Given the description of an element on the screen output the (x, y) to click on. 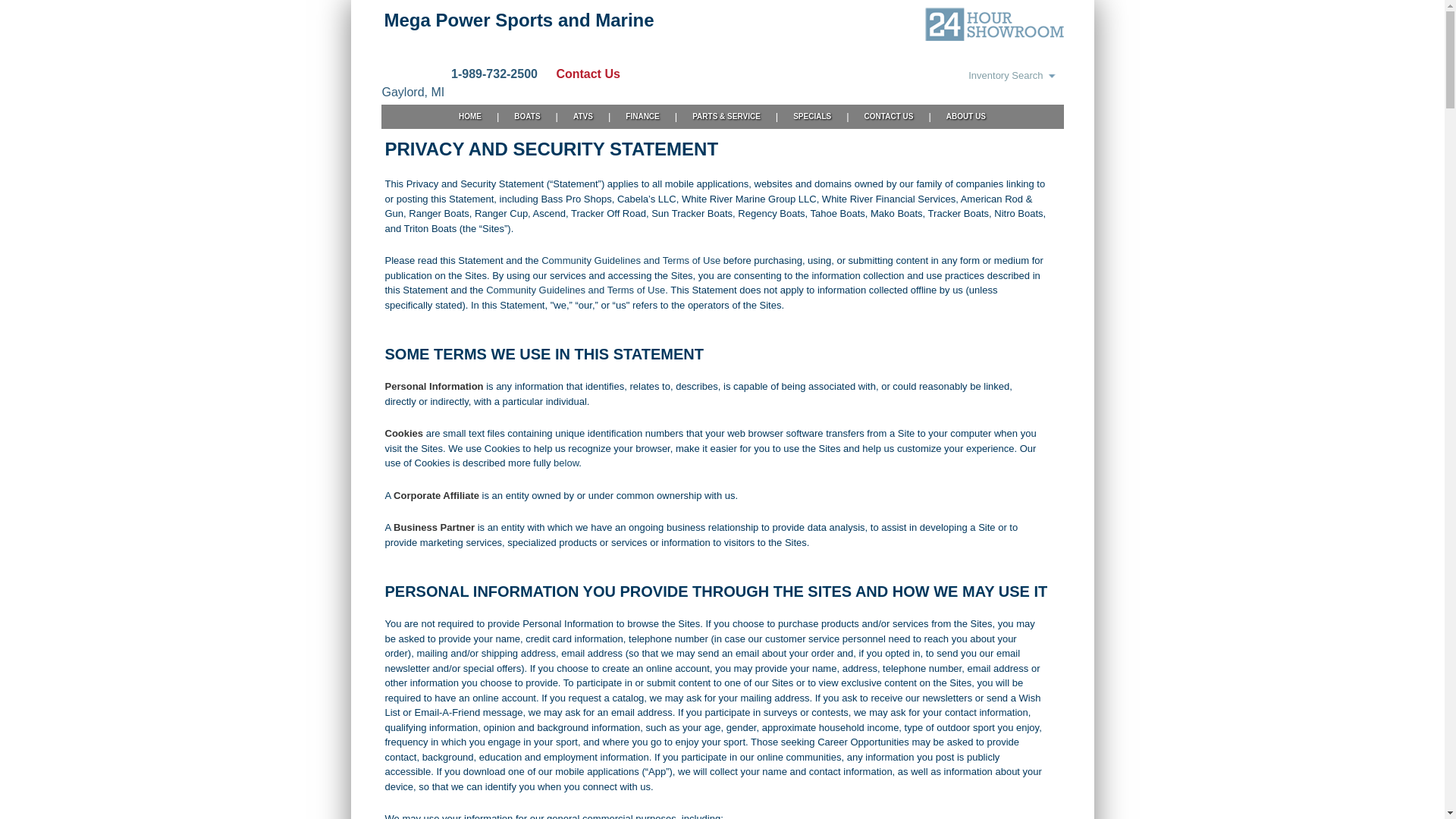
HOME Element type: text (469, 116)
below Element type: text (565, 462)
Community Guidelines and Terms of Use Element type: text (630, 260)
ATVS Element type: text (583, 116)
ABOUT US Element type: text (966, 116)
PARTS & SERVICE Element type: text (726, 116)
SPECIALS Element type: text (812, 116)
CONTACT US Element type: text (888, 116)
Community Guidelines and Terms of Use Element type: text (575, 289)
Contact Us Element type: text (579, 73)
FINANCE Element type: text (642, 116)
Mega Power Sports and Marine Element type: text (518, 19)
BOATS Element type: text (526, 116)
